Given the description of an element on the screen output the (x, y) to click on. 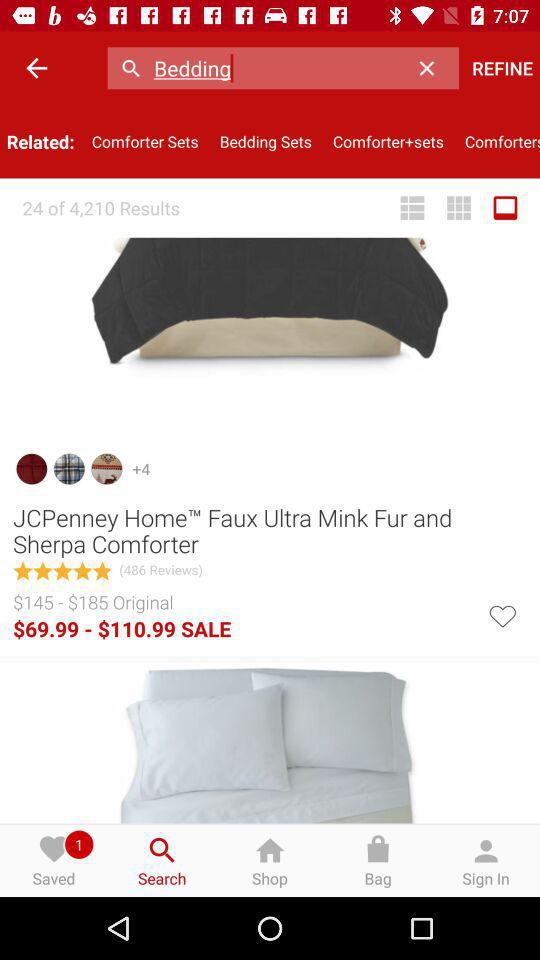
press item below the comforters item (505, 208)
